Given the description of an element on the screen output the (x, y) to click on. 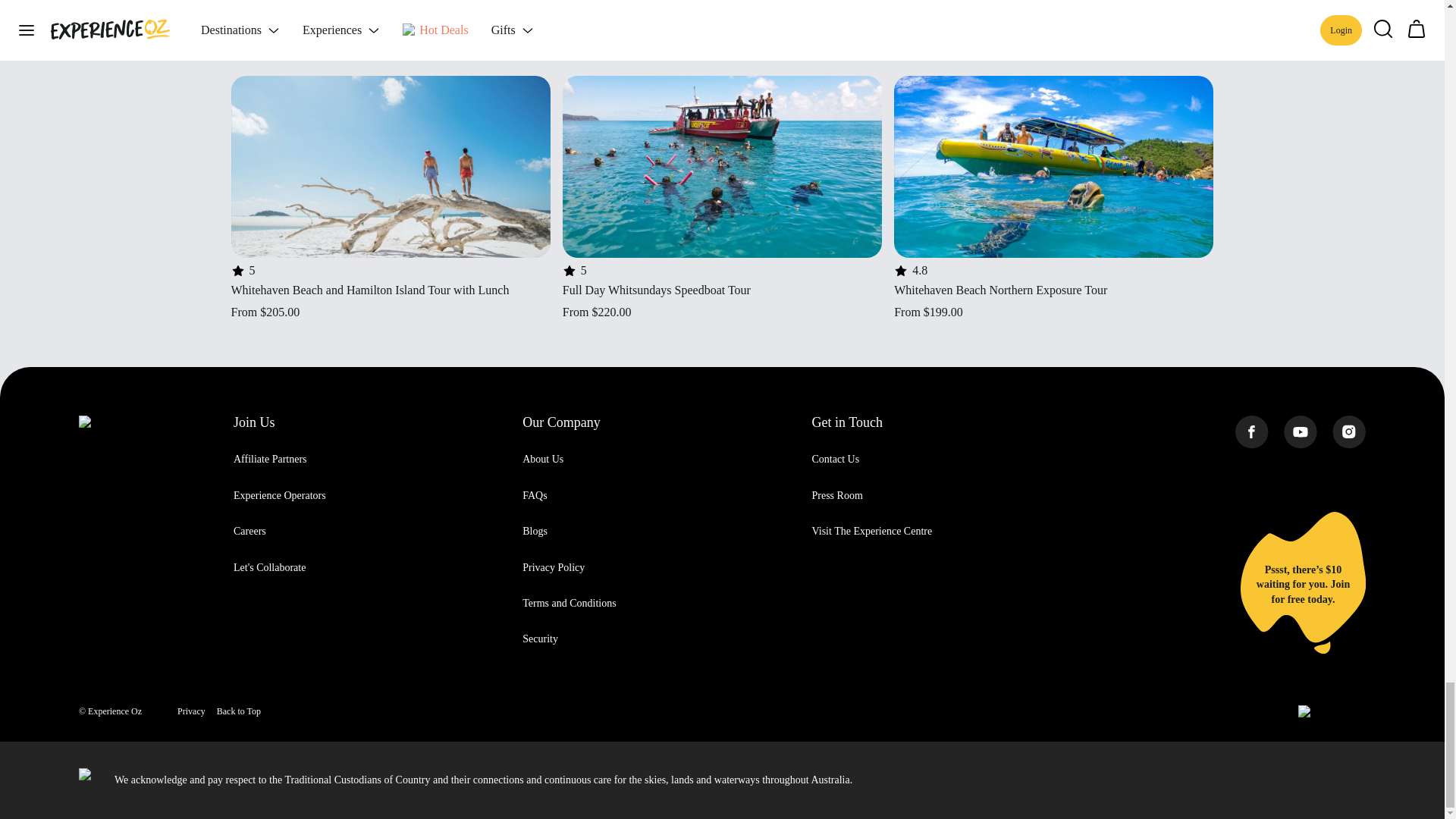
Experience Operators (279, 495)
Blogs (534, 531)
Privacy Policy (553, 567)
About Us (542, 459)
Careers (249, 531)
Let's Collaborate (268, 567)
Affiliate Partners (269, 459)
FAQs (534, 495)
